Given the description of an element on the screen output the (x, y) to click on. 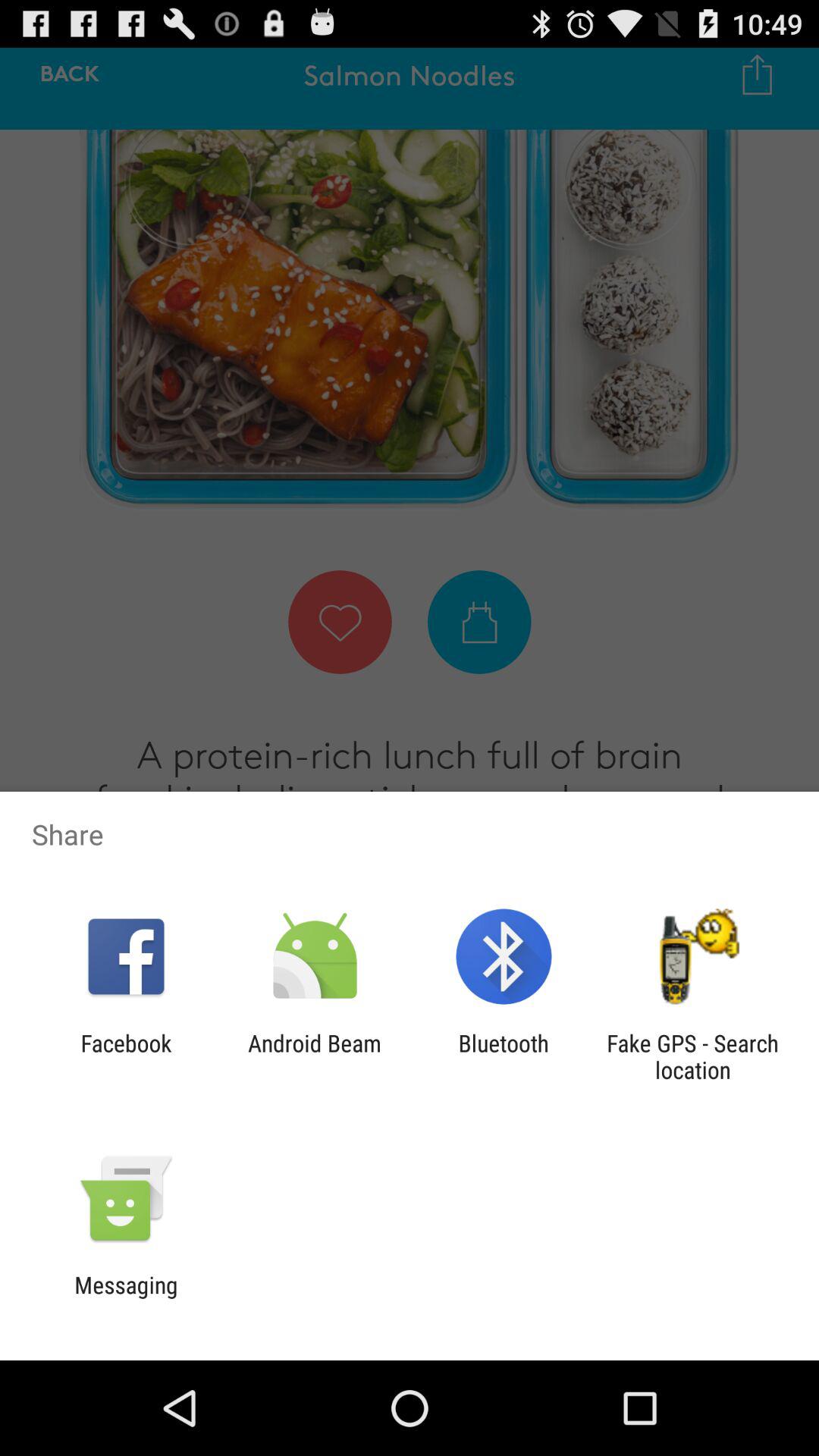
open bluetooth item (503, 1056)
